Given the description of an element on the screen output the (x, y) to click on. 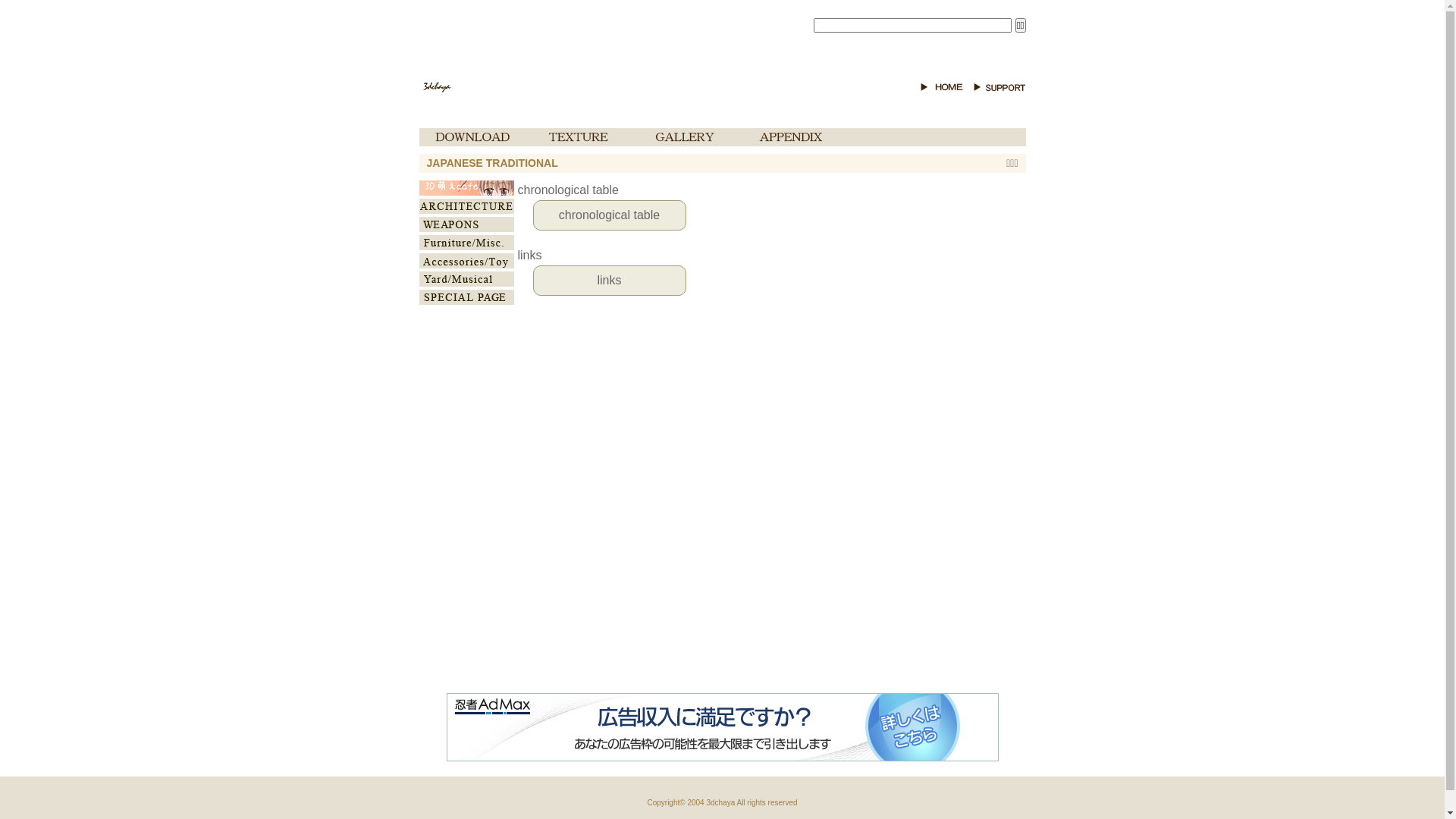
links
links Element type: text (718, 270)
Advertisement Element type: hover (595, 37)
Advertisement Element type: hover (968, 407)
Advertisement Element type: hover (721, 664)
Advertisement Element type: hover (721, 108)
chronological table
chronological table Element type: text (718, 205)
